Given the description of an element on the screen output the (x, y) to click on. 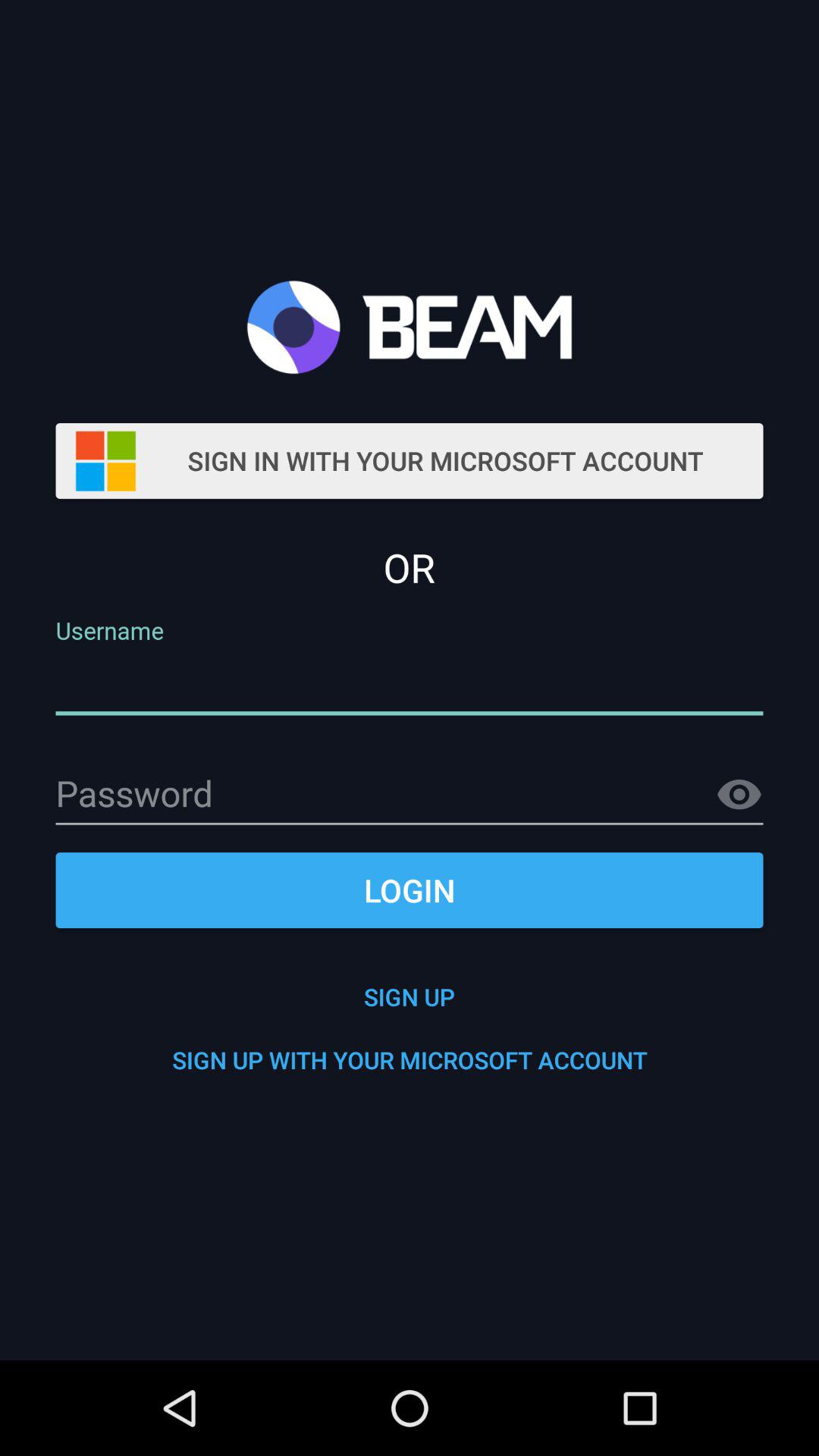
open item above login item (739, 795)
